Given the description of an element on the screen output the (x, y) to click on. 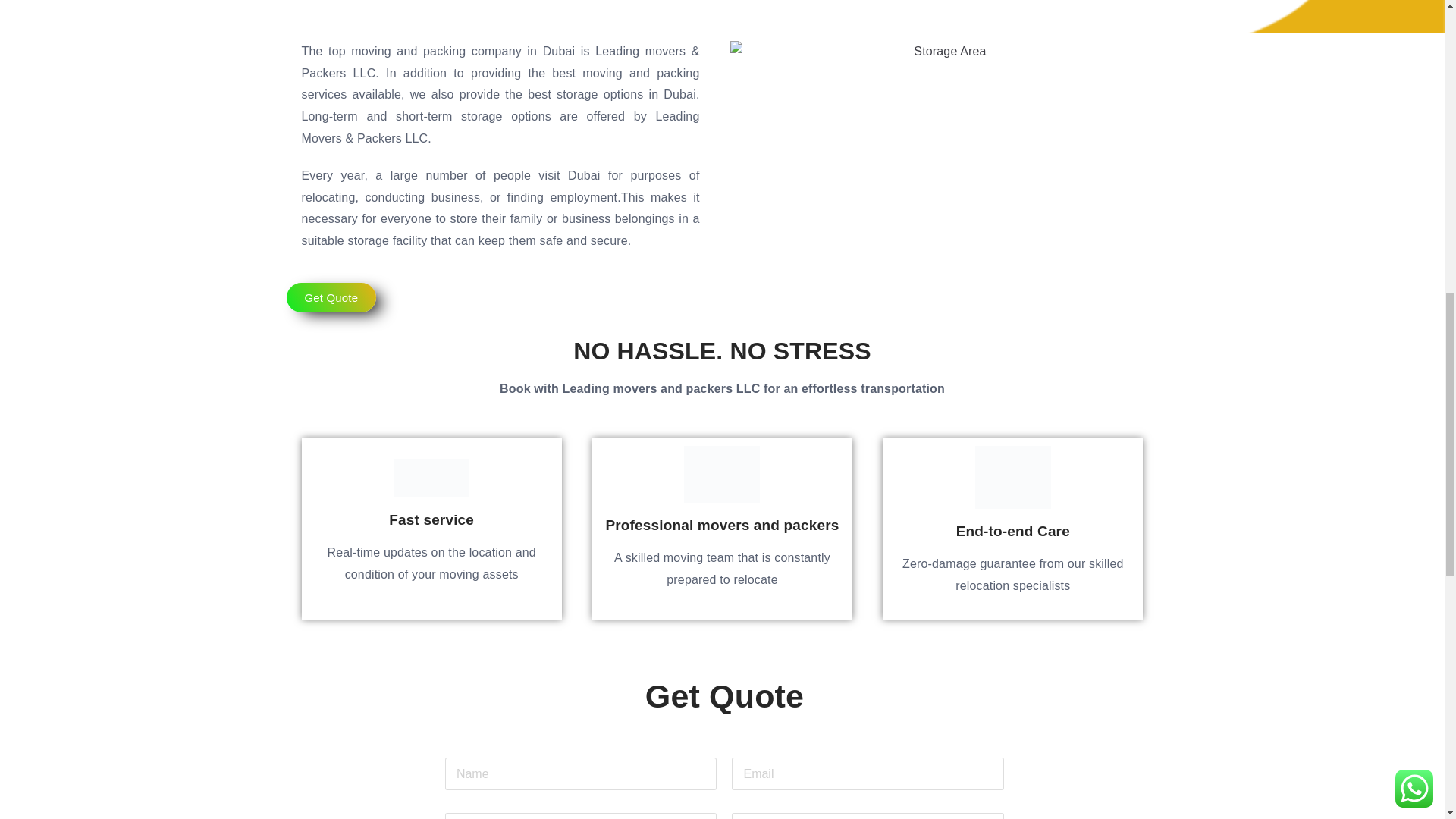
Get Quote (331, 297)
